Given the description of an element on the screen output the (x, y) to click on. 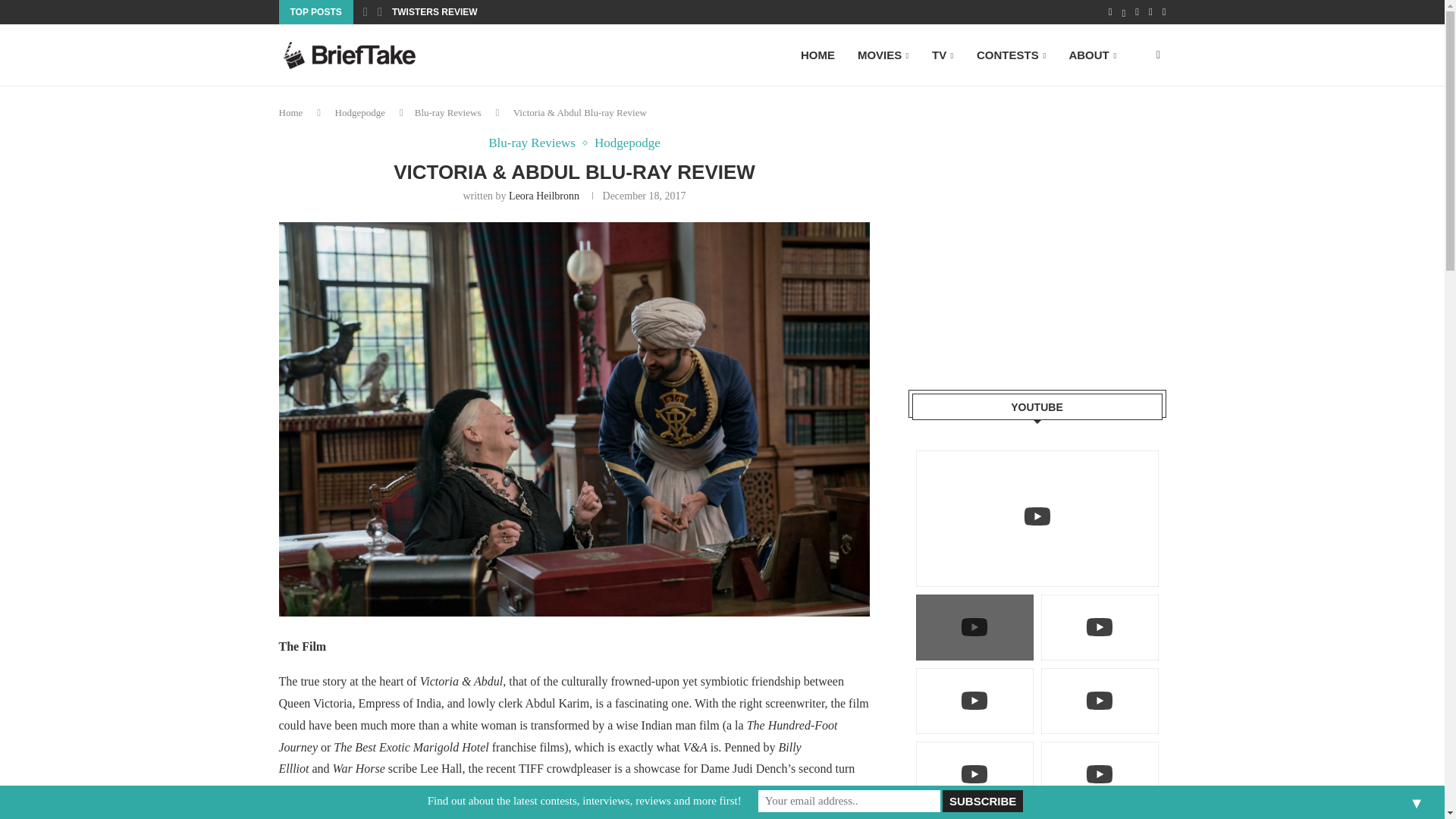
Hodgepodge (627, 142)
Hodgepodge (359, 112)
Subscribe (982, 801)
TWISTERS REVIEW (434, 12)
Blu-ray Reviews (447, 112)
CONTESTS (1010, 55)
Home (290, 112)
Leora Heilbronn (543, 195)
Blu-ray Reviews (535, 142)
